Given the description of an element on the screen output the (x, y) to click on. 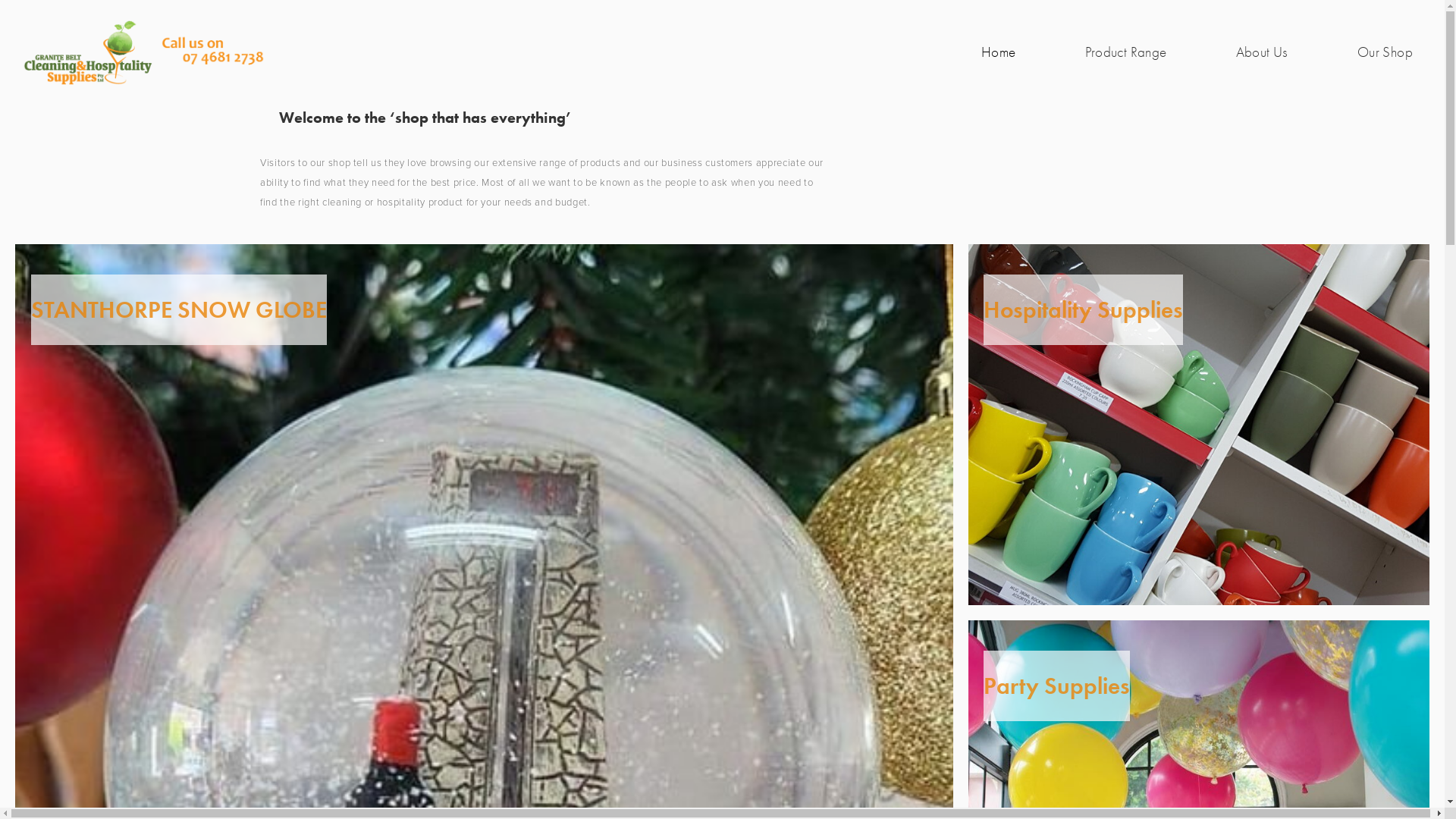
Our Shop Element type: text (1384, 52)
Product Range Element type: text (1126, 51)
About Us Element type: text (1262, 52)
Home Element type: text (998, 52)
